Given the description of an element on the screen output the (x, y) to click on. 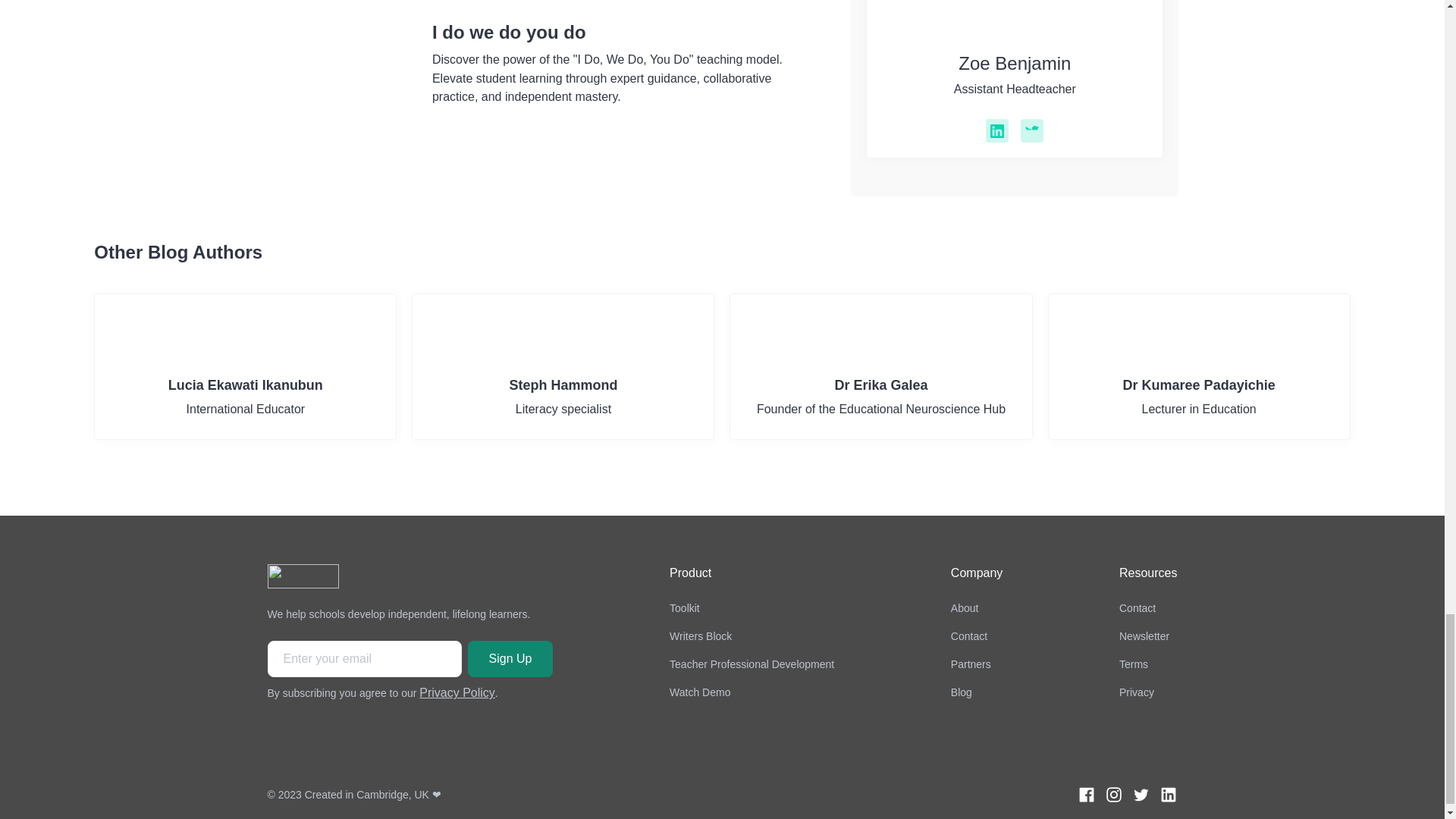
Sign Up (245, 366)
Privacy Policy (510, 658)
Sign Up (457, 692)
